Given the description of an element on the screen output the (x, y) to click on. 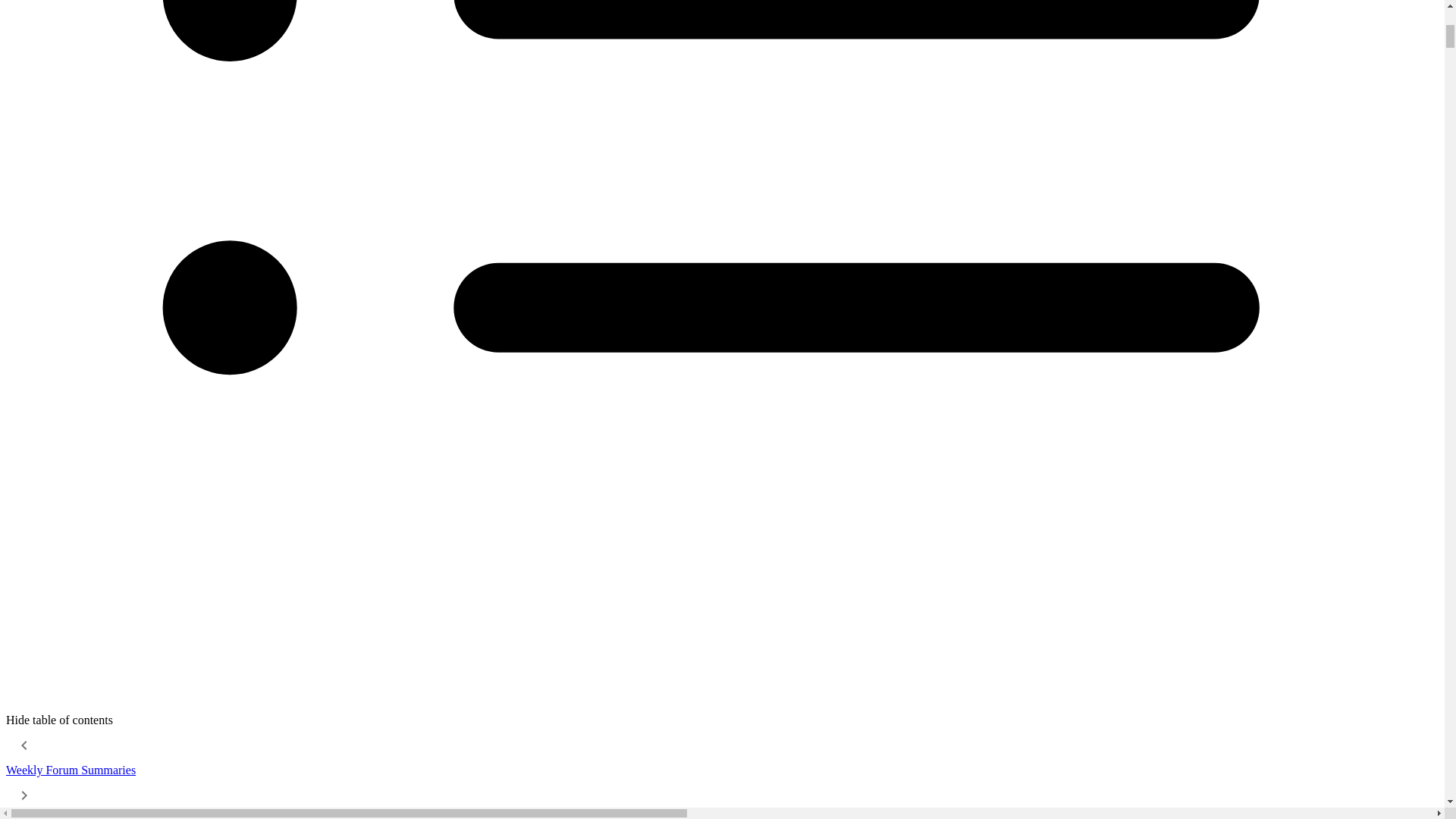
Weekly Forum Summaries (70, 769)
